Given the description of an element on the screen output the (x, y) to click on. 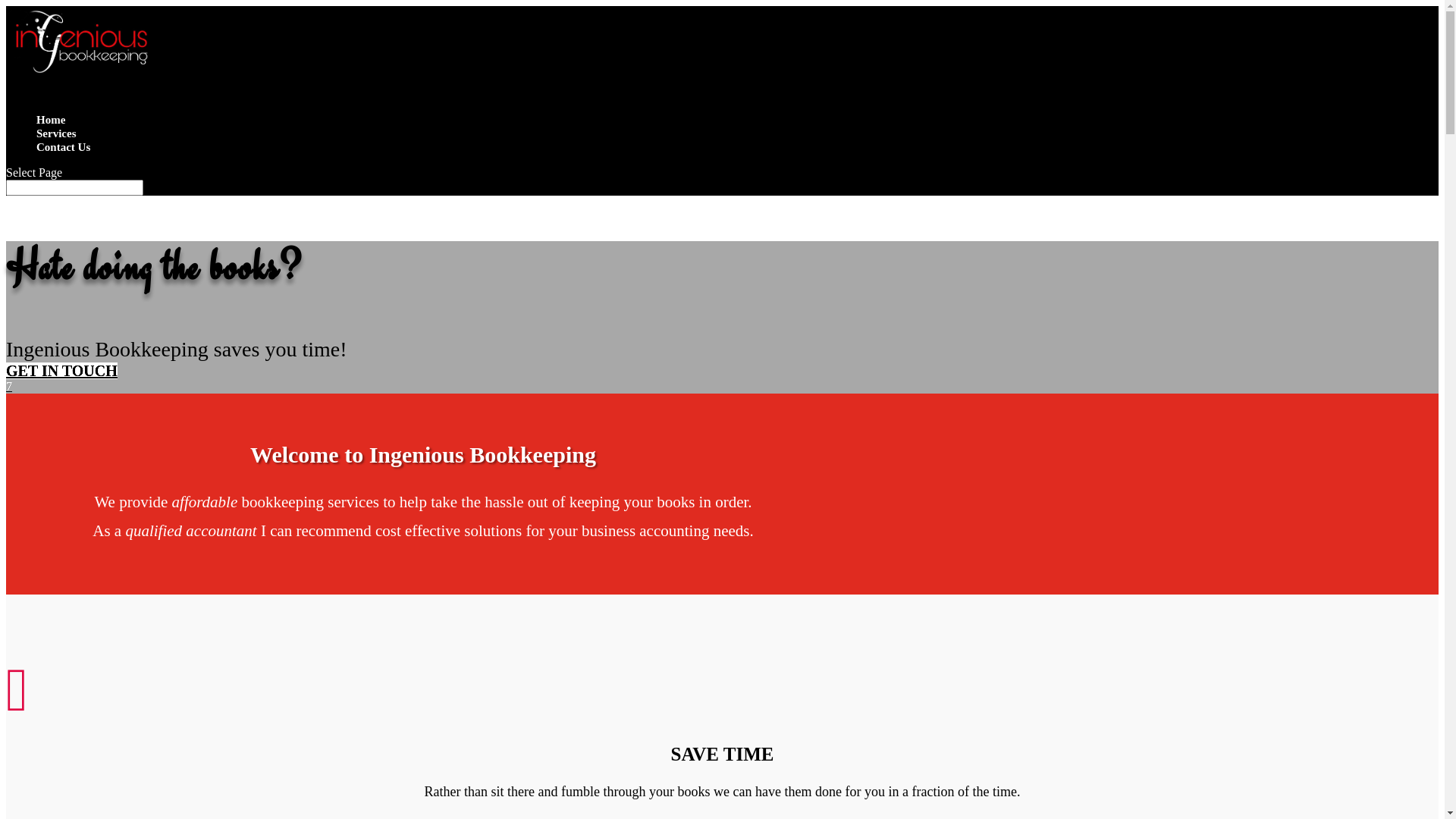
Home Element type: text (50, 128)
Contact Us Element type: text (63, 155)
7 Element type: text (9, 385)
GET IN TOUCH Element type: text (61, 370)
Services Element type: text (55, 141)
Search for: Element type: hover (74, 187)
